Given the description of an element on the screen output the (x, y) to click on. 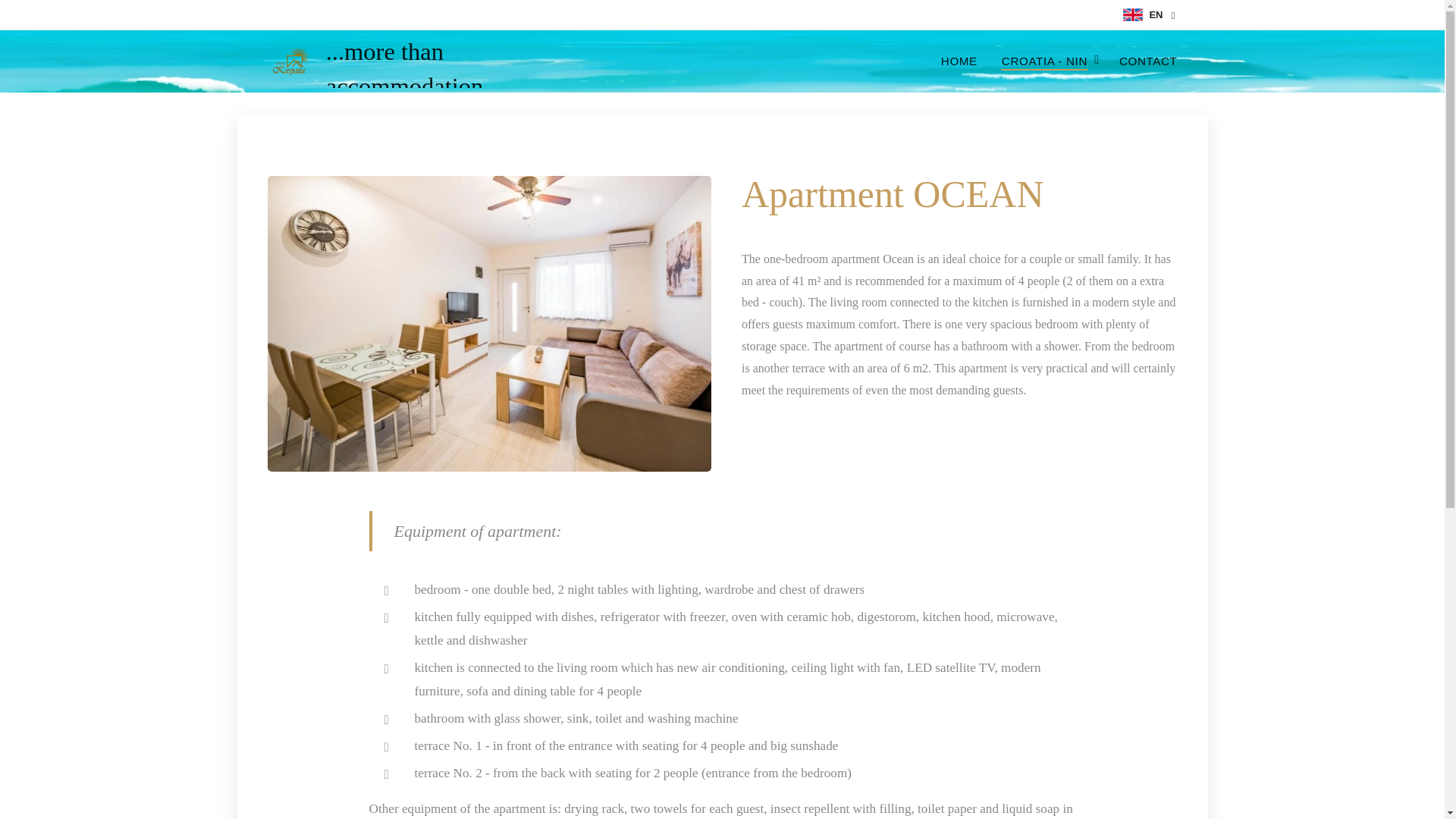
CONTACT (1141, 61)
...more than accommodation.. (427, 61)
CROATIA - NIN (1048, 61)
HOME (963, 61)
